Given the description of an element on the screen output the (x, y) to click on. 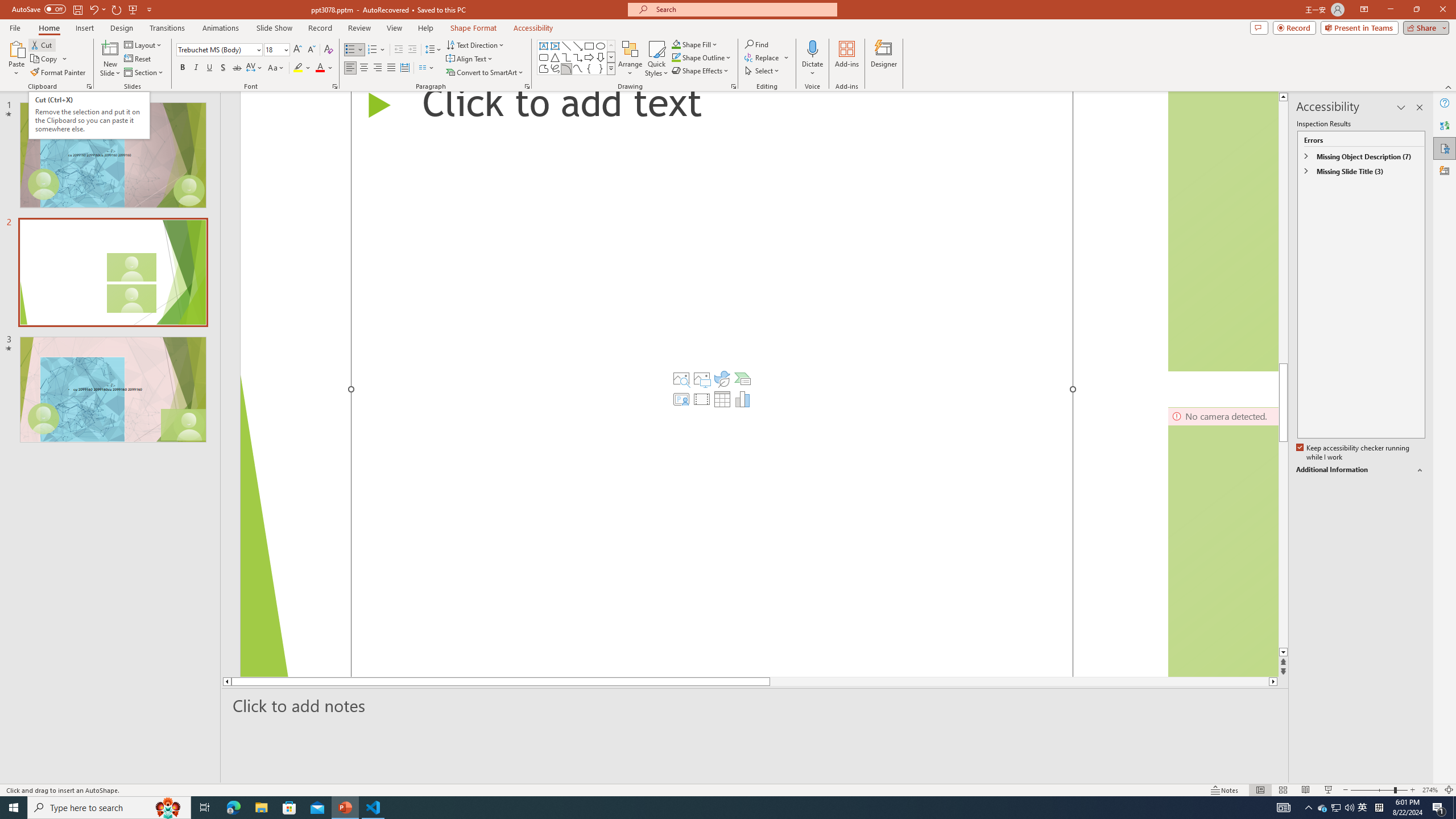
Shape Outline (701, 56)
